Given the description of an element on the screen output the (x, y) to click on. 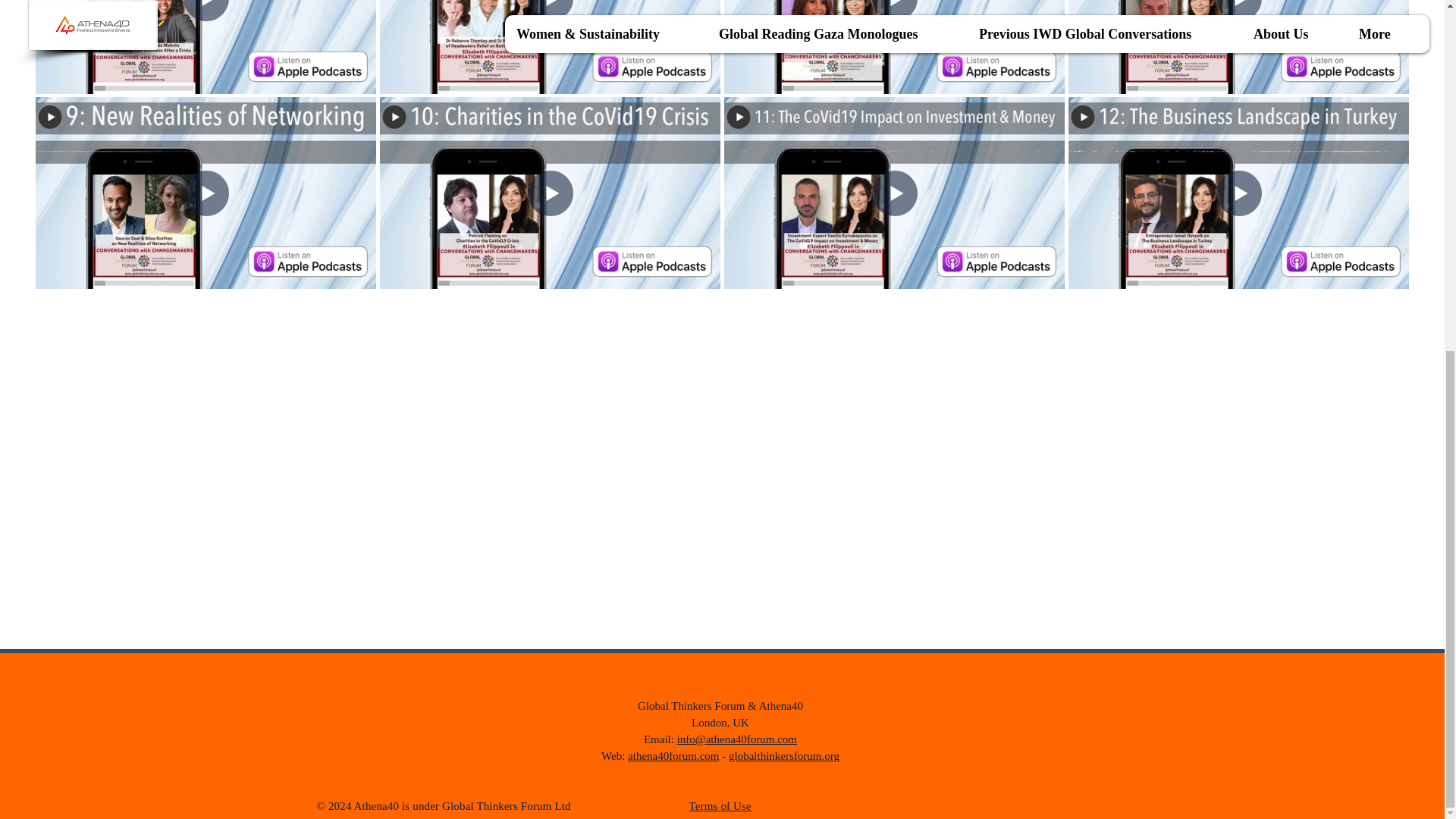
Terms of Use (719, 806)
globalthinkersforum.org (784, 756)
athena40forum.com (673, 756)
London, UK (720, 722)
